Given the description of an element on the screen output the (x, y) to click on. 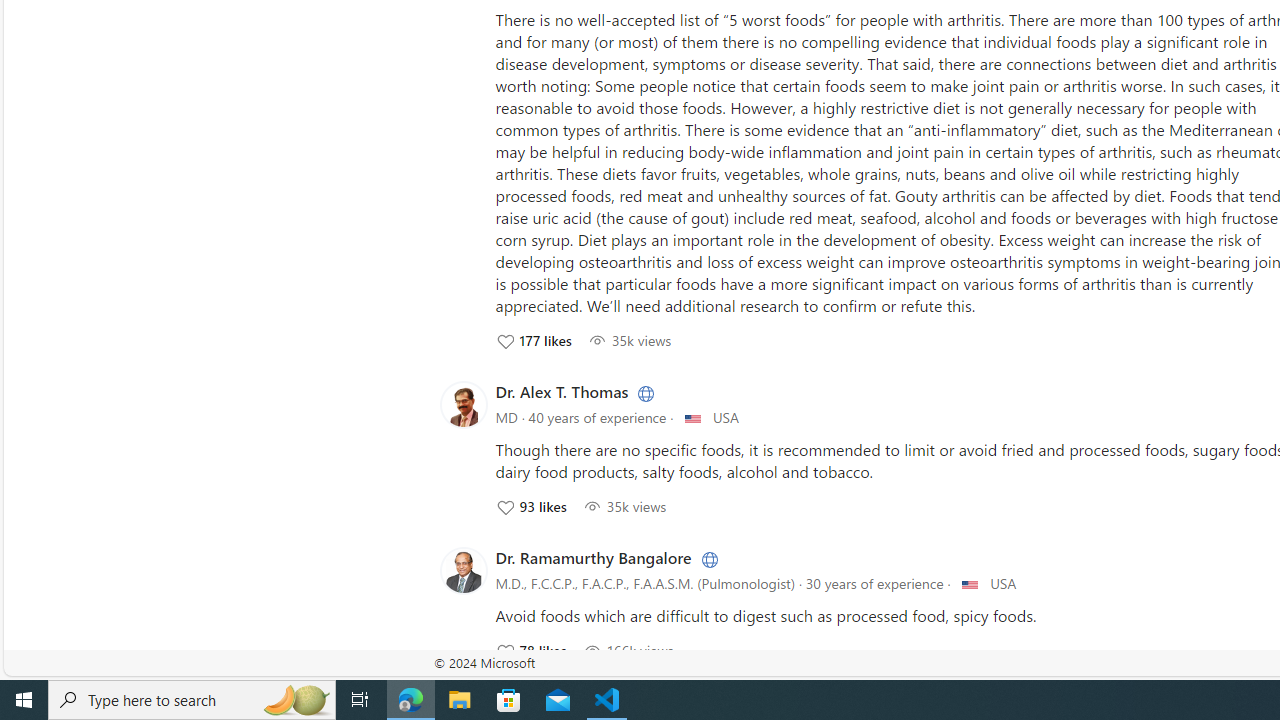
78 Like; Click to Like (530, 650)
166504 View; Click to View (628, 650)
Flag image of USA (969, 584)
doctorIconRound (463, 570)
93 Like; Click to Like (530, 506)
35587 View; Click to View (629, 340)
177 Like; Click to Like (532, 340)
35593 View; Click to View (624, 506)
